Given the description of an element on the screen output the (x, y) to click on. 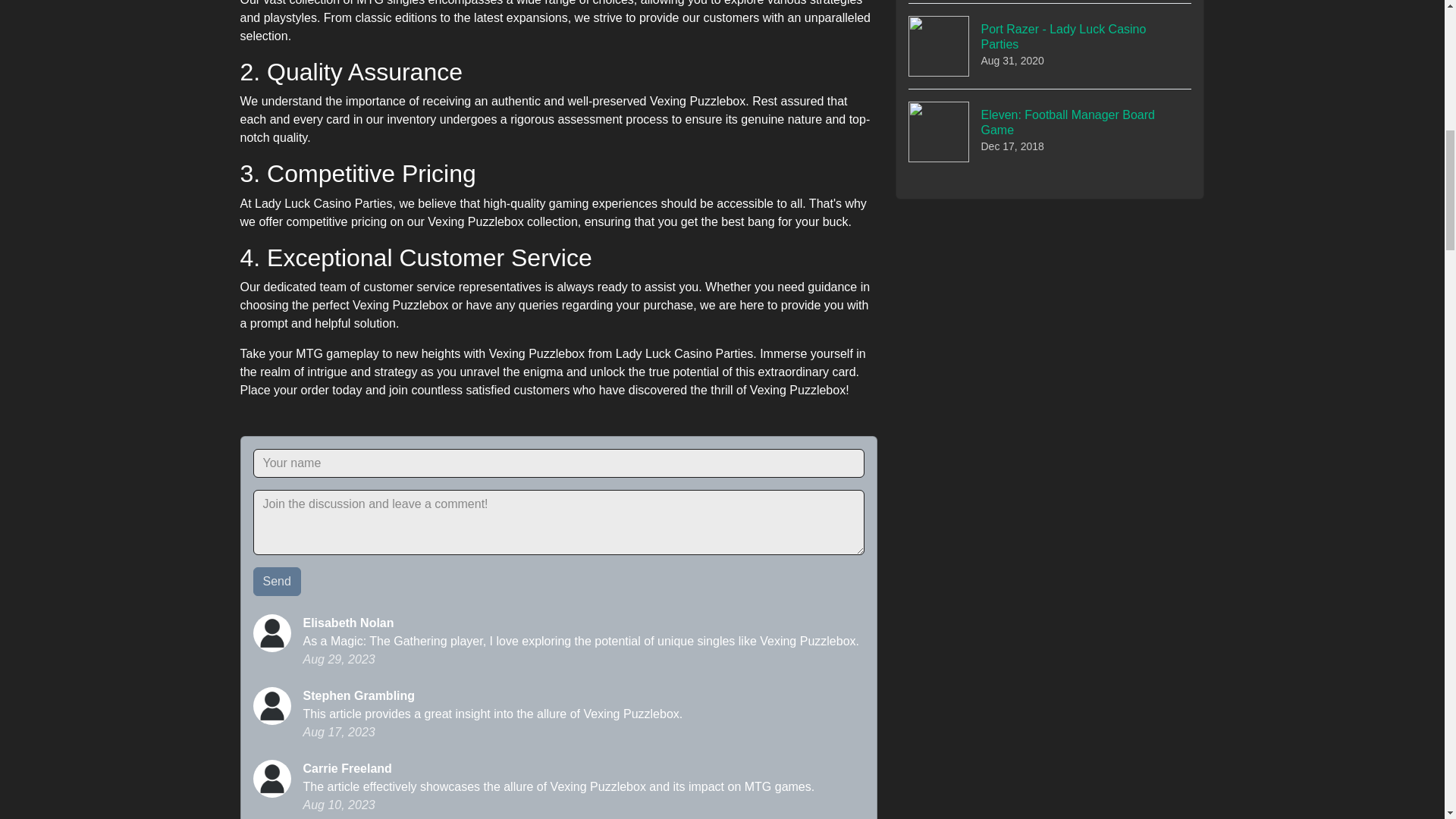
Send (1050, 45)
Send (1050, 131)
